Given the description of an element on the screen output the (x, y) to click on. 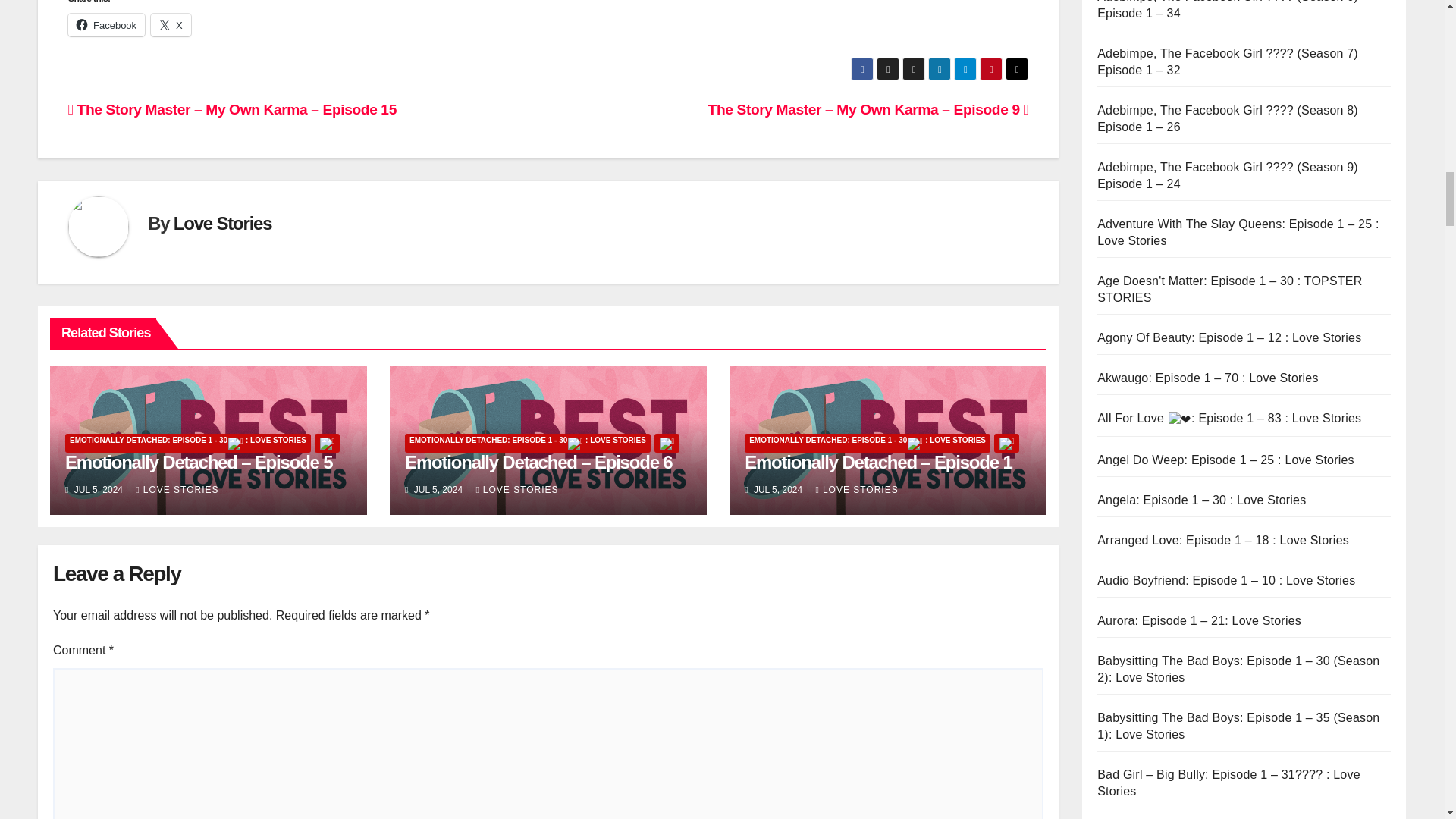
Love Stories (222, 222)
Click to share on X (170, 24)
EMOTIONALLY DETACHED: EPISODE 1 - 30 : LOVE STORIES (188, 443)
LOVE STORIES (176, 489)
EMOTIONALLY DETACHED: EPISODE 1 - 30 : LOVE STORIES (527, 443)
X (170, 24)
Facebook (106, 24)
Click to share on Facebook (106, 24)
